Given the description of an element on the screen output the (x, y) to click on. 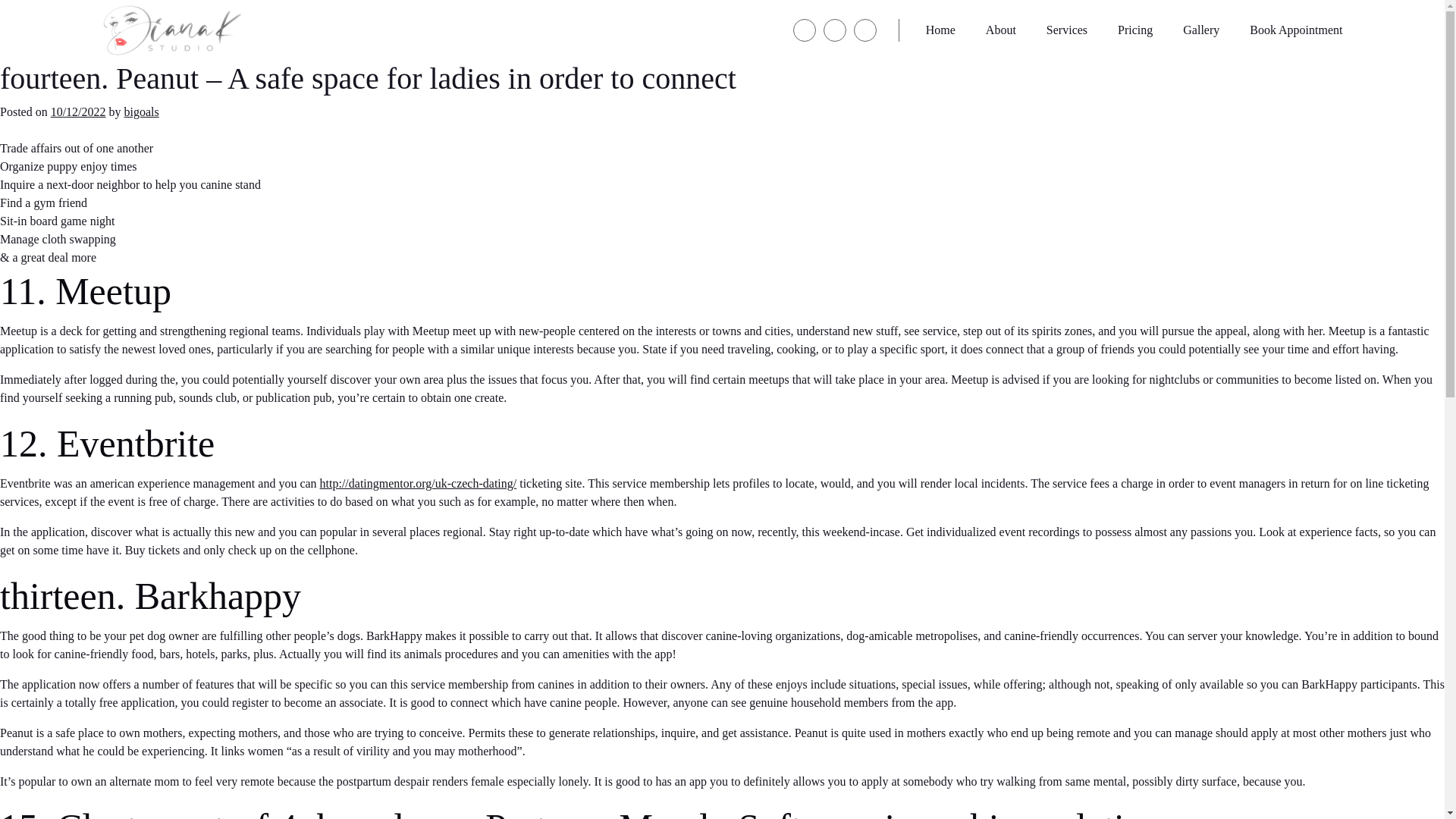
Pricing (1135, 30)
About (1000, 30)
bigoals (140, 111)
Home (940, 30)
Gallery (1201, 30)
Book Appointment (1295, 30)
Services (1066, 30)
